Given the description of an element on the screen output the (x, y) to click on. 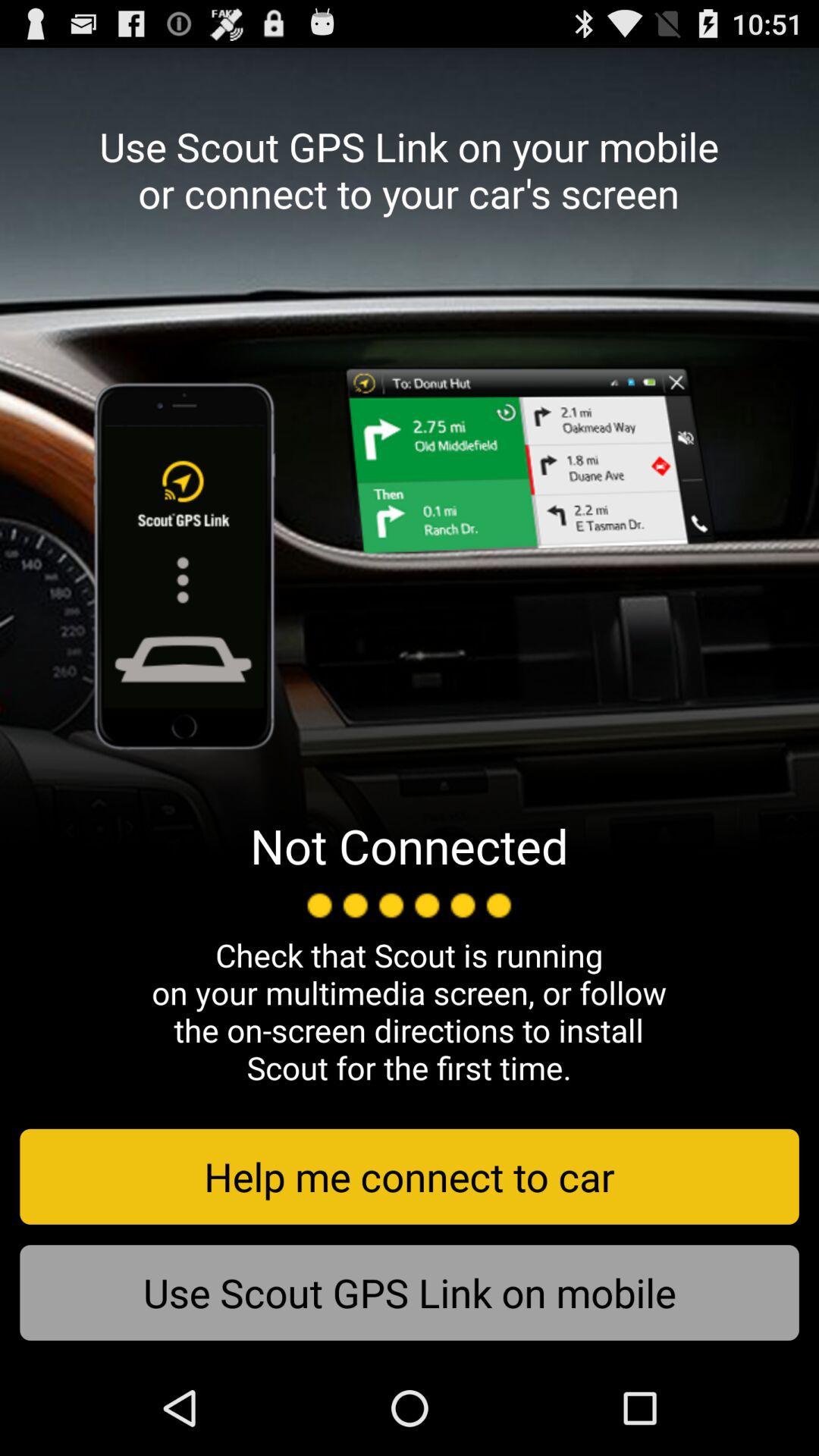
swipe to the help me connect (409, 1176)
